Given the description of an element on the screen output the (x, y) to click on. 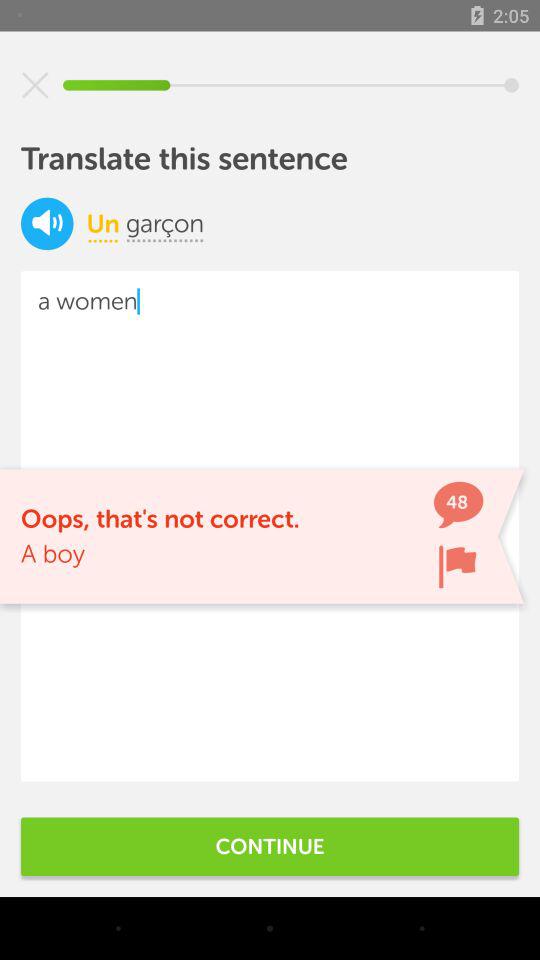
launch icon next to   icon (165, 223)
